Given the description of an element on the screen output the (x, y) to click on. 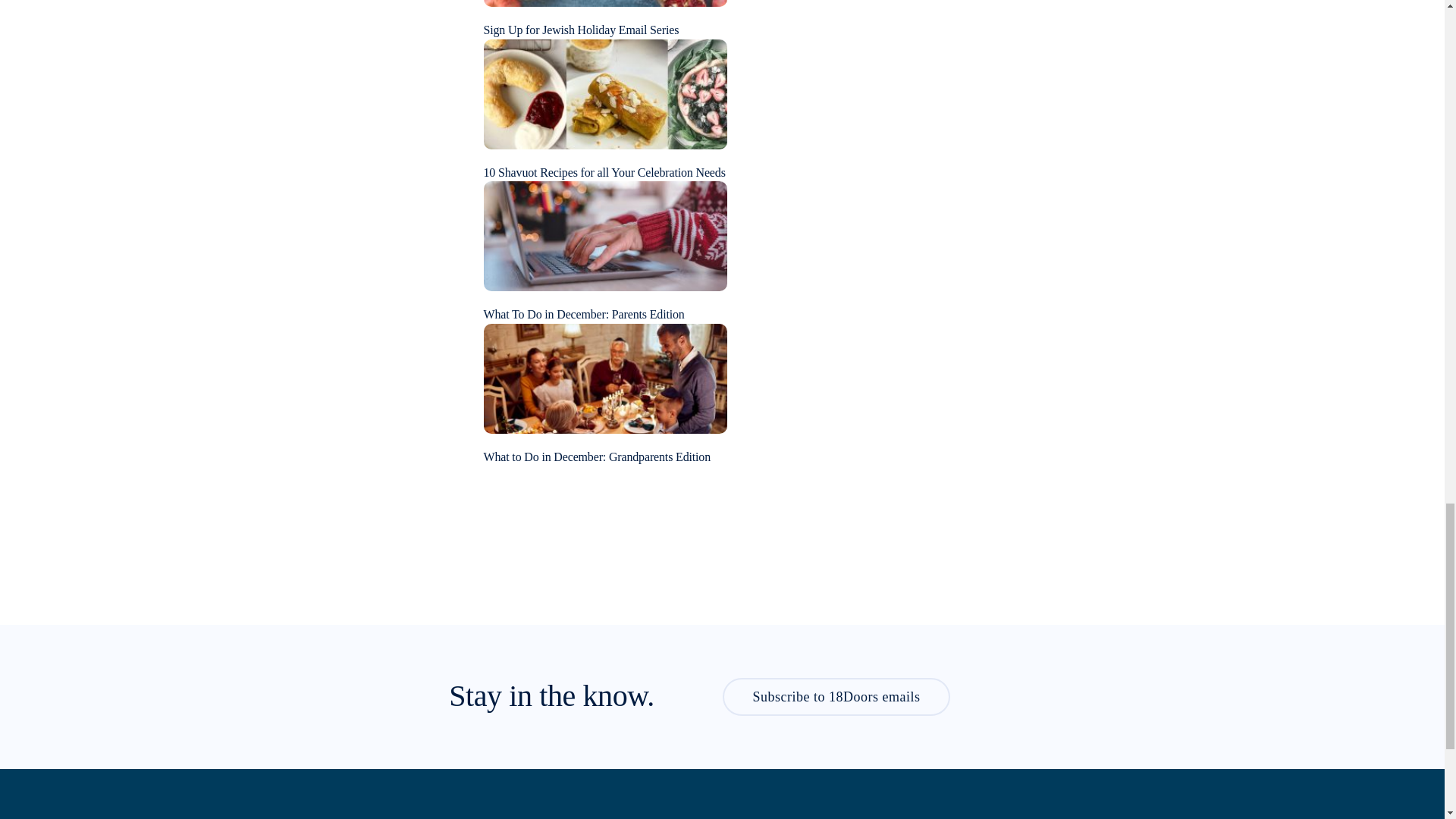
Sign Up for Jewish Holiday Email Series (581, 29)
What to Do in December: Grandparents Edition (597, 456)
10 Shavuot Recipes for all Your Celebration Needs (604, 172)
What To Do in December: Parents Edition (583, 314)
10 Shavuot Recipes for all Your Celebration Needs (605, 92)
What to Do in December: Grandparents Edition (605, 377)
What To Do in December: Parents Edition (605, 235)
